Given the description of an element on the screen output the (x, y) to click on. 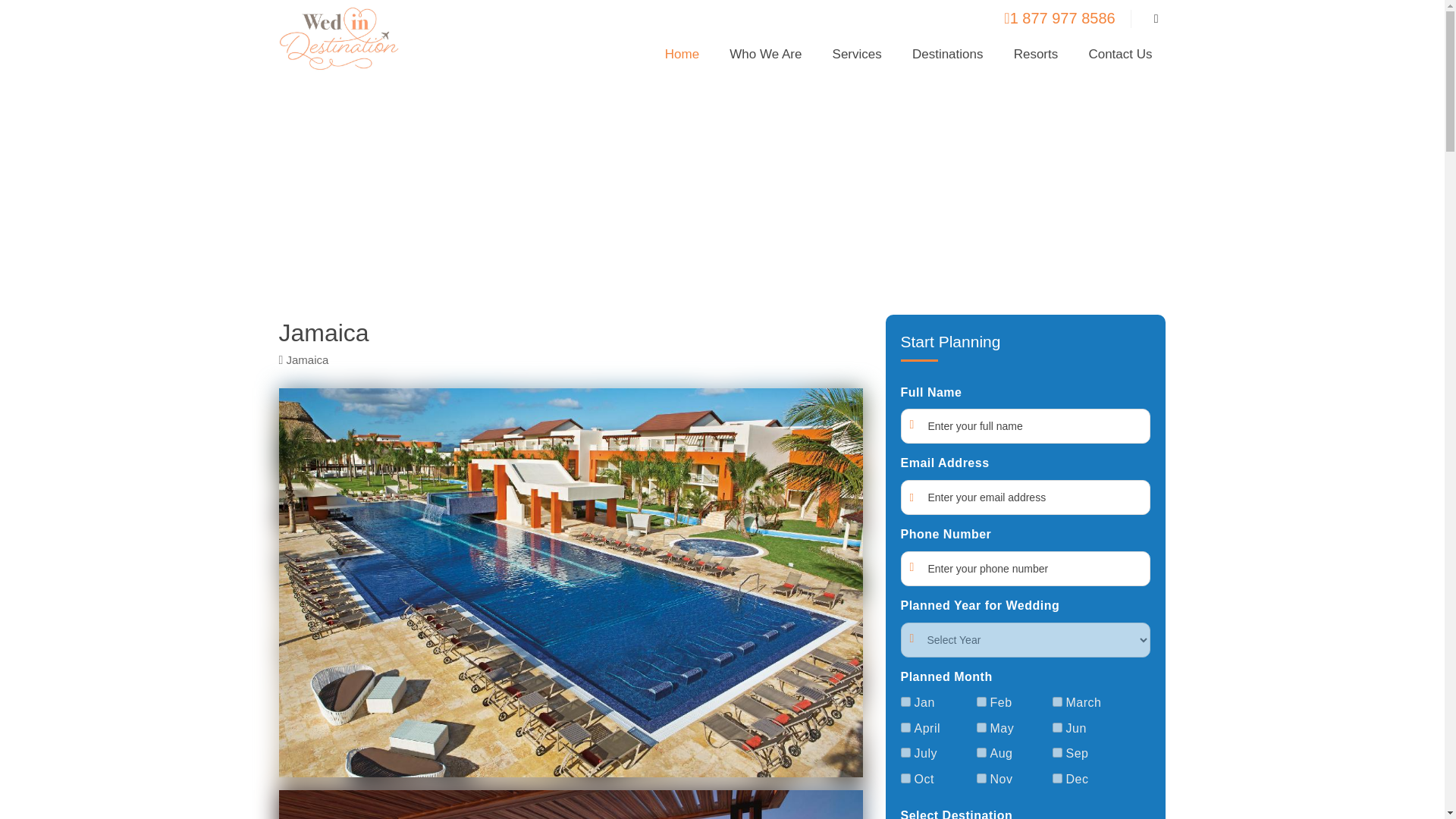
 March  (1057, 701)
 Aug  (981, 752)
 Dec  (1057, 777)
 Jun  (1057, 727)
Home (681, 58)
 Jan  (906, 701)
 Sep  (1057, 752)
Destinations (947, 58)
Top places for destination wedding in Jamaica (722, 191)
Resorts (1035, 58)
